Given the description of an element on the screen output the (x, y) to click on. 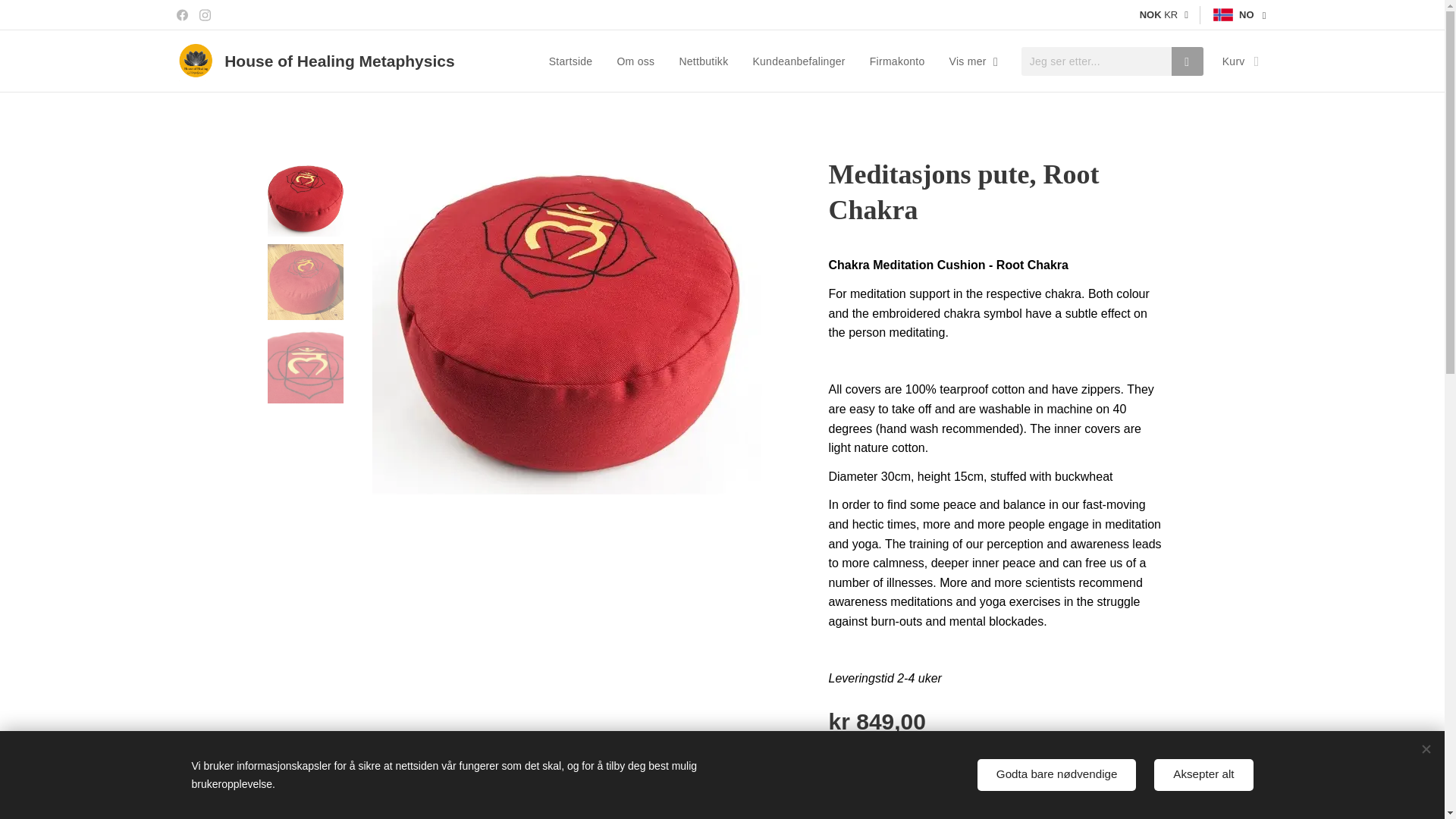
Kurv (1236, 61)
Nettbutikk (702, 61)
Vis mer (971, 61)
Startside (574, 61)
Om oss (635, 61)
Kundeanbefalinger (798, 61)
Firmakonto (897, 61)
House of Healing Metaphysics (317, 61)
